Given the description of an element on the screen output the (x, y) to click on. 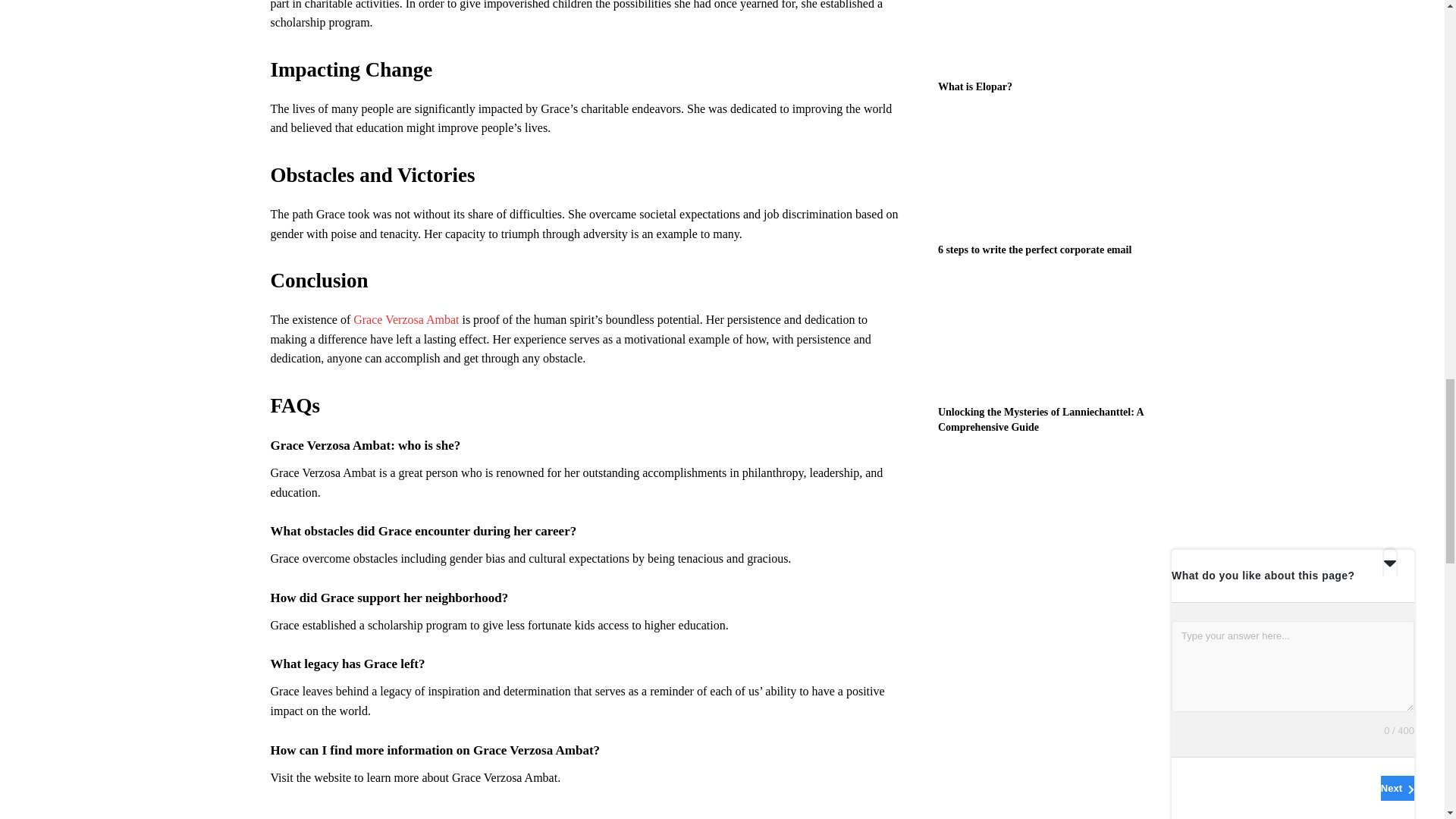
Grace Verzosa Ambat (407, 318)
6 steps to write the perfect corporate email (1055, 173)
6 steps to write the perfect corporate email (1034, 249)
What is Elopar? (1055, 35)
What is Elopar? (974, 86)
